Given the description of an element on the screen output the (x, y) to click on. 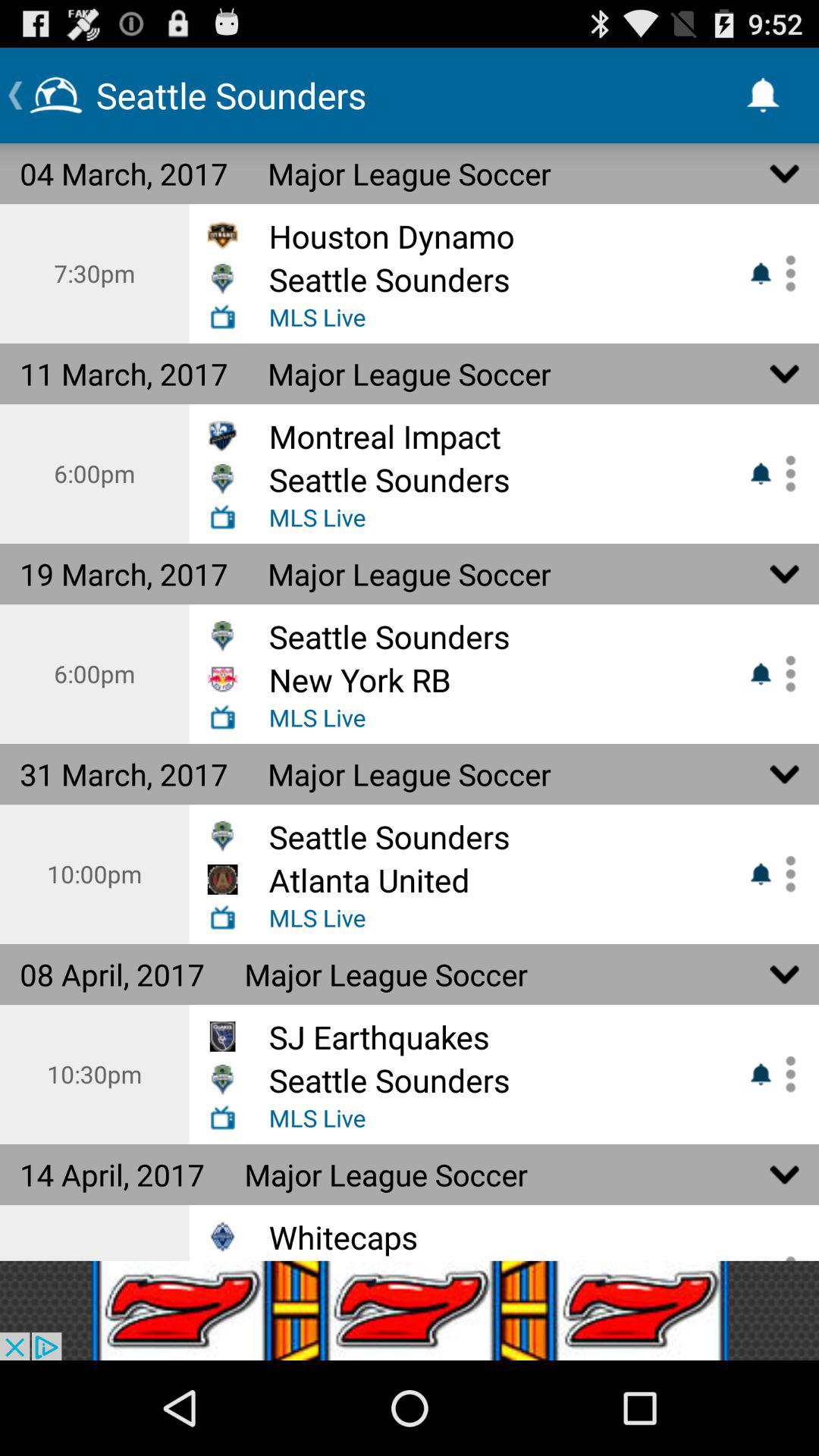
settings bor (785, 273)
